Given the description of an element on the screen output the (x, y) to click on. 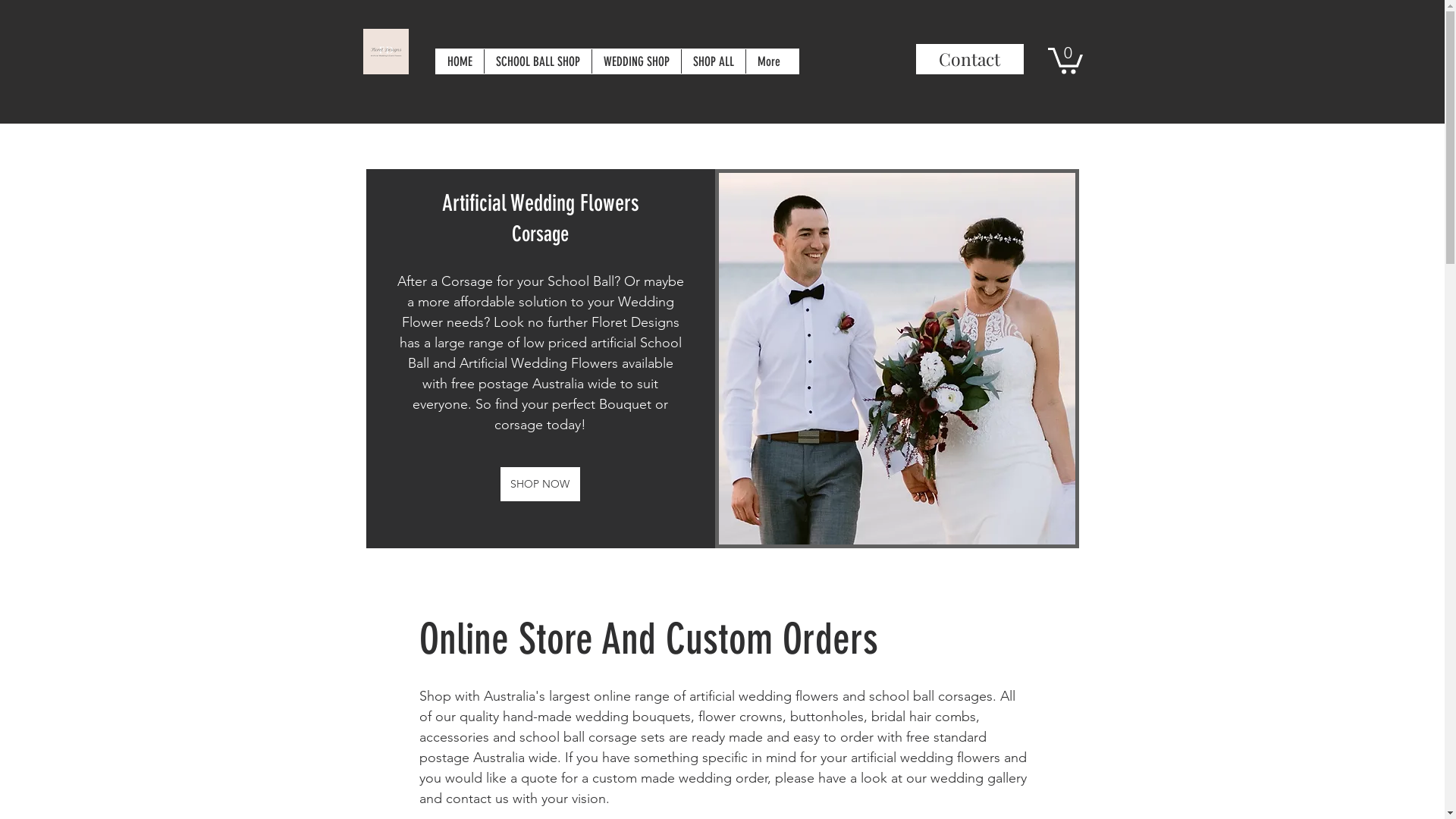
SCHOOL BALL SHOP Element type: text (537, 61)
0 Element type: text (1065, 59)
SHOP ALL Element type: text (712, 61)
WEDDING SHOP Element type: text (635, 61)
Contact Element type: text (969, 58)
SHOP NOW Element type: text (540, 484)
HOME Element type: text (459, 61)
